Given the description of an element on the screen output the (x, y) to click on. 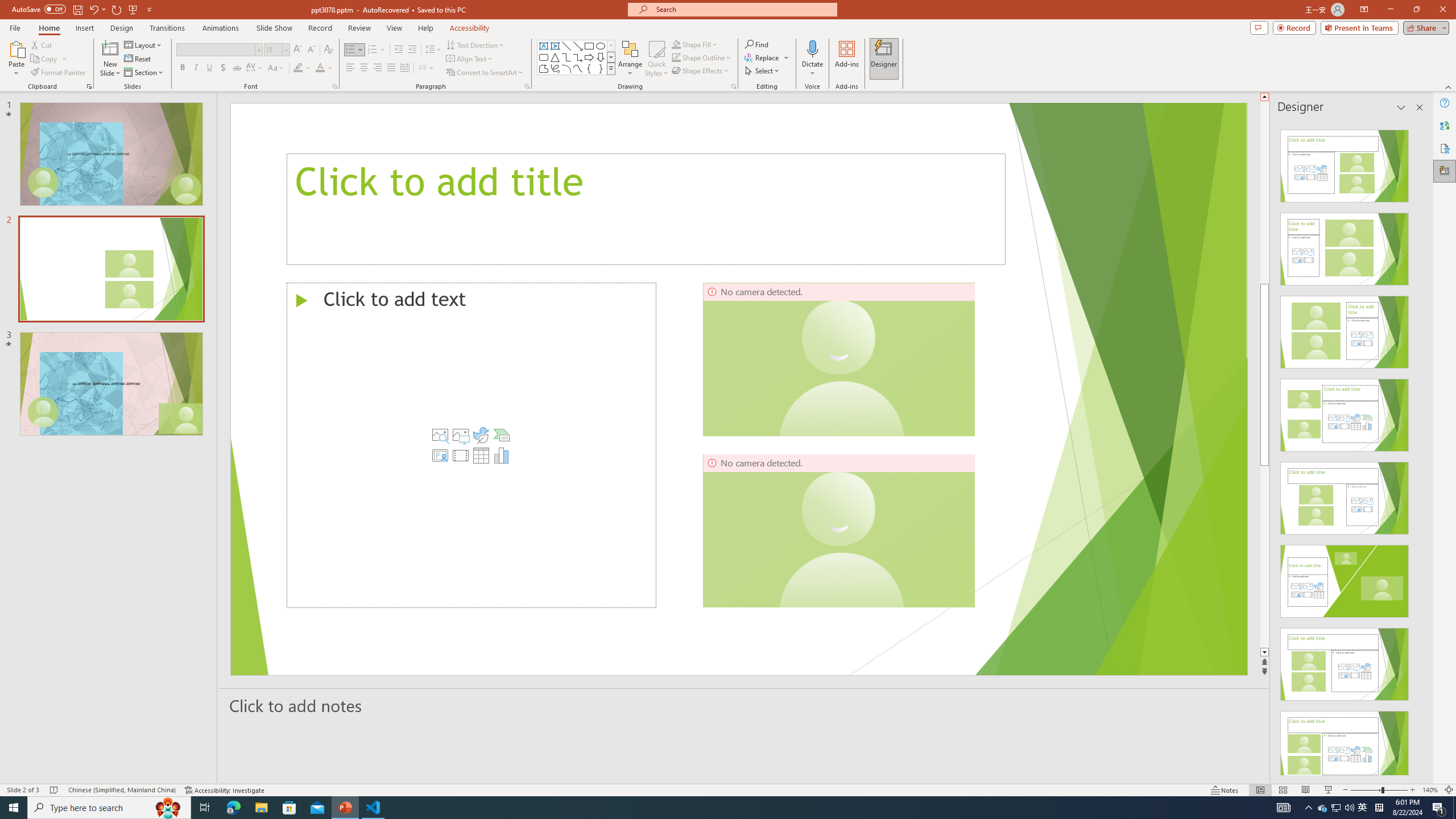
Justify (390, 67)
Layout (143, 44)
Connector: Elbow (566, 57)
Shapes (611, 68)
Shape Outline (701, 56)
Isosceles Triangle (554, 57)
Increase Indent (412, 49)
Italic (195, 67)
Line Arrow (577, 45)
Arrow: Down (600, 57)
